Given the description of an element on the screen output the (x, y) to click on. 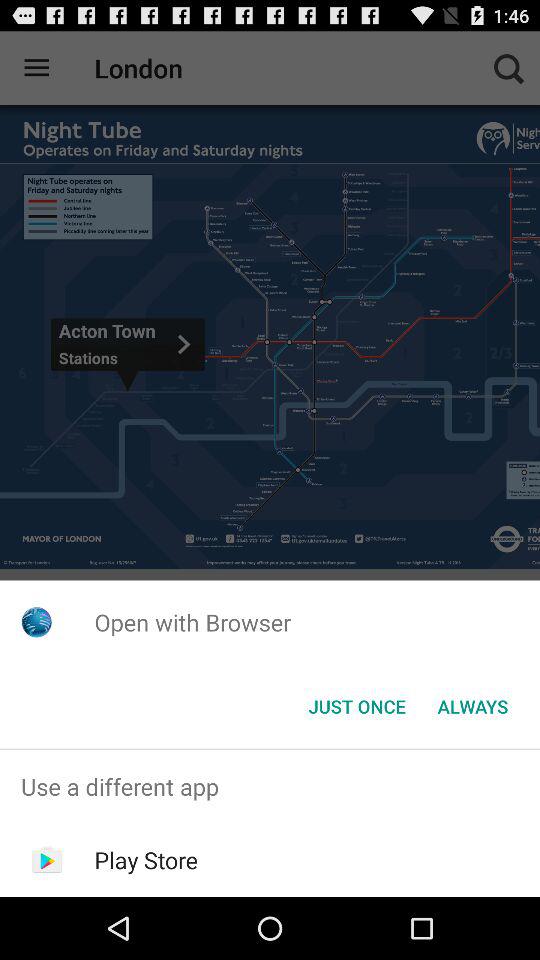
launch the icon above play store (270, 786)
